Given the description of an element on the screen output the (x, y) to click on. 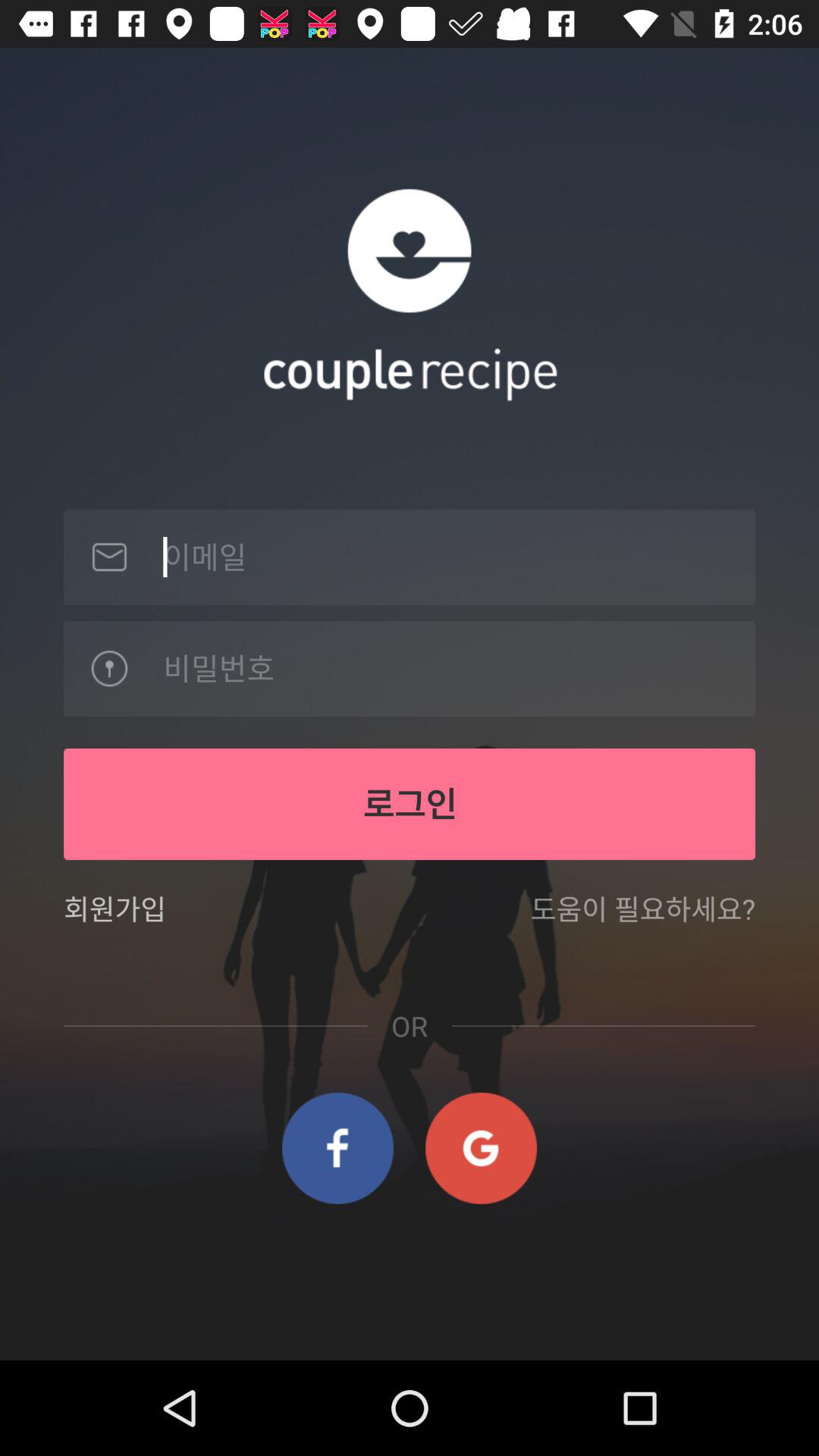
click icon below or item (337, 1148)
